Given the description of an element on the screen output the (x, y) to click on. 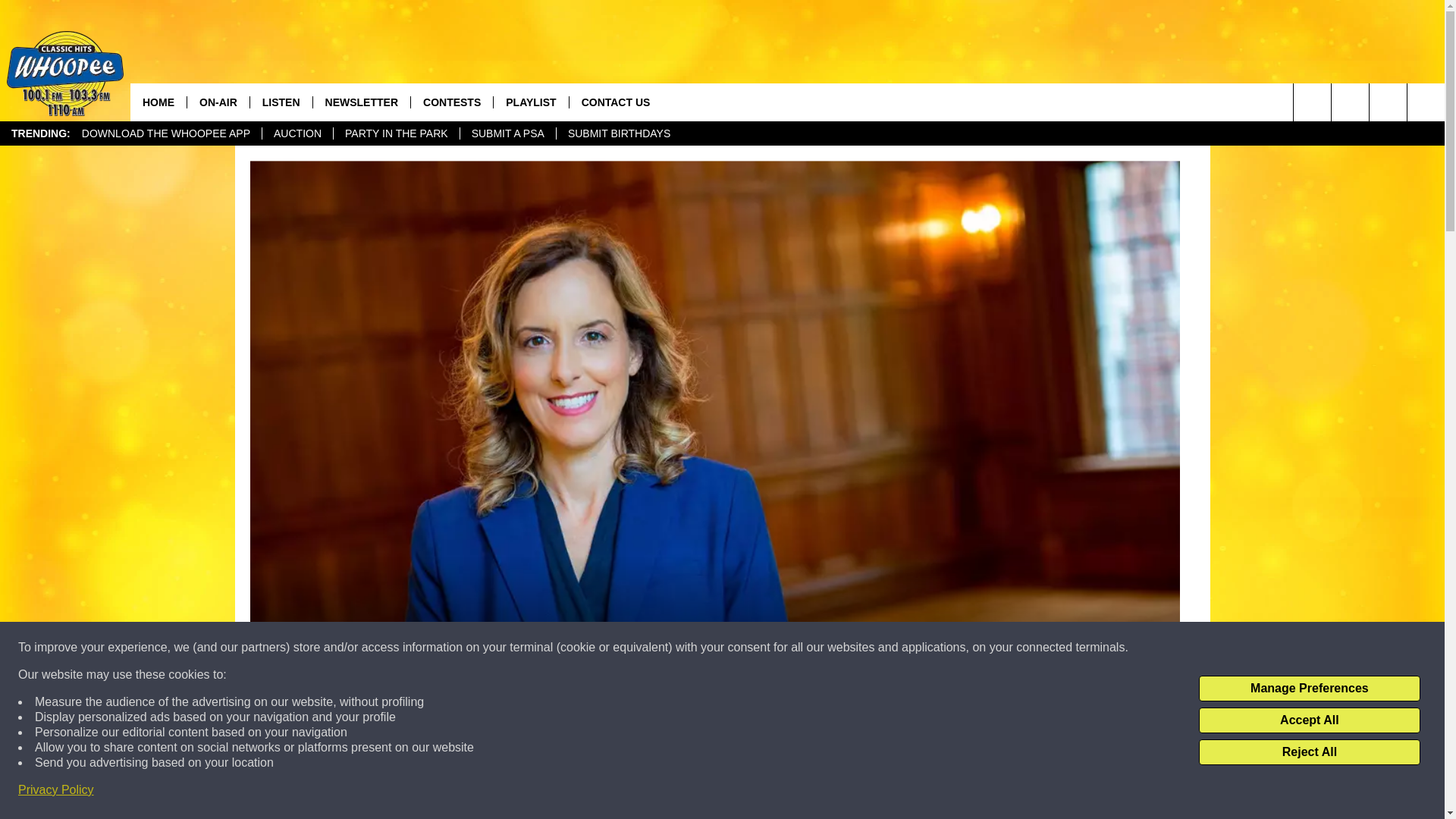
Share on Facebook (517, 791)
NEWSLETTER (361, 102)
SUBMIT A PSA (508, 133)
Share on Twitter (912, 791)
Manage Preferences (1309, 688)
ON-AIR (217, 102)
SUBMIT BIRTHDAYS (618, 133)
PLAYLIST (530, 102)
HOME (158, 102)
CONTACT US (615, 102)
Reject All (1309, 751)
DOWNLOAD THE WHOOPEE APP (165, 133)
CONTESTS (451, 102)
AUCTION (297, 133)
Accept All (1309, 720)
